Given the description of an element on the screen output the (x, y) to click on. 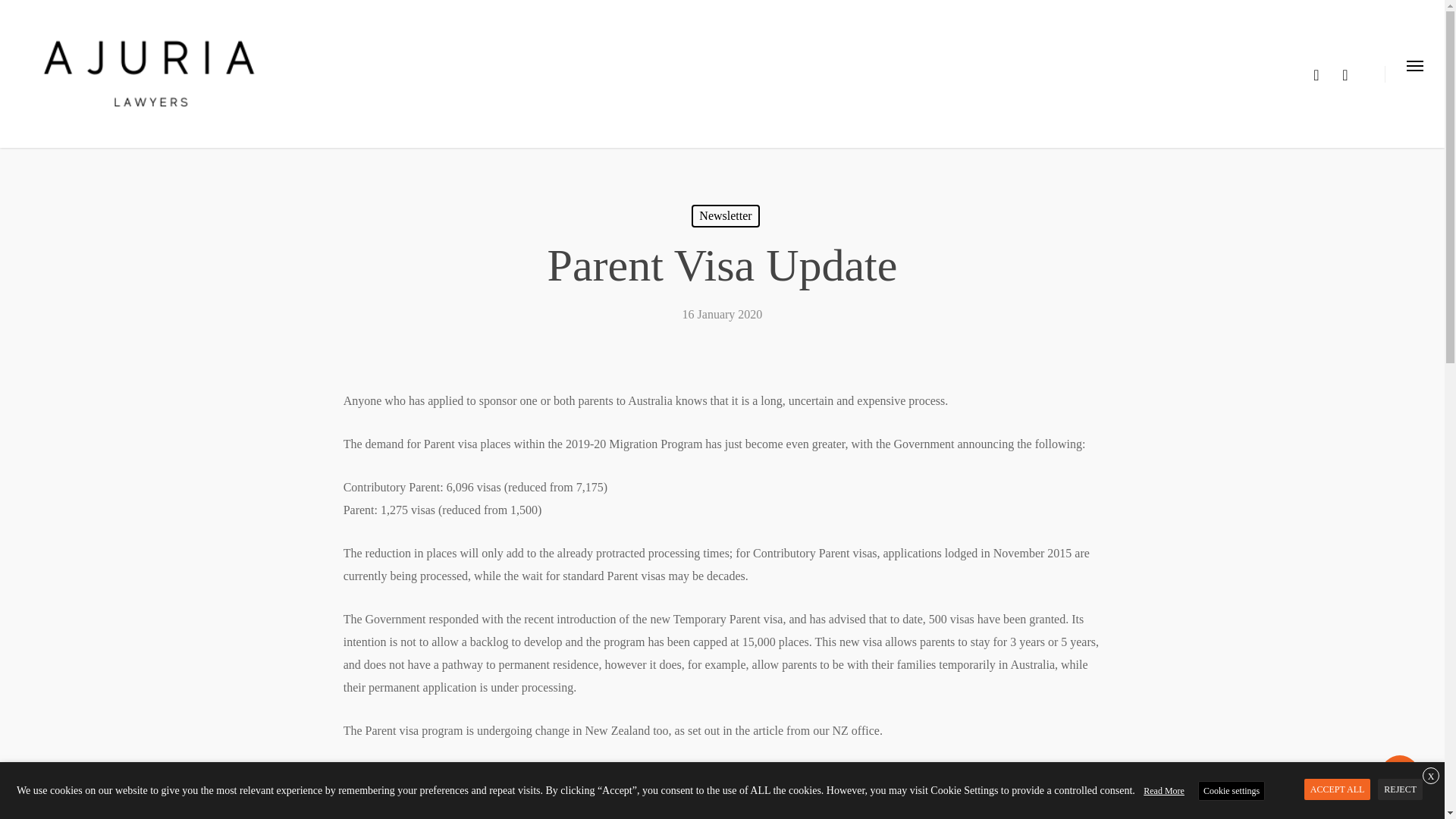
Menu (1414, 73)
Newsletter (724, 215)
Close and Accept (1430, 775)
Linkedin (1315, 73)
Instagram (1344, 73)
